Given the description of an element on the screen output the (x, y) to click on. 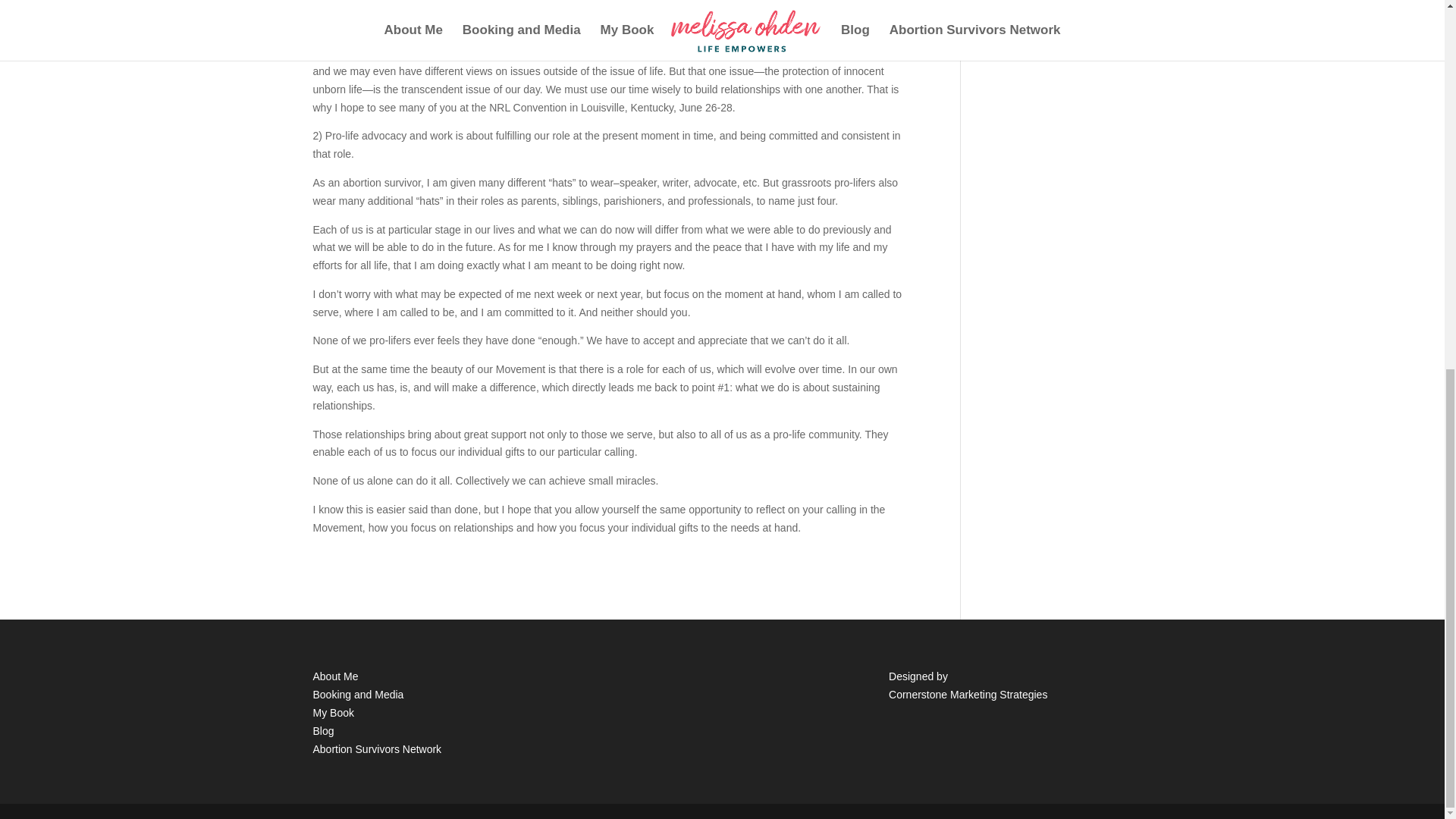
About Me (335, 676)
Cornerstone Marketing Strategies (967, 694)
My Book (333, 712)
Blog (323, 730)
Booking and Media (358, 694)
Abortion Survivors Network (377, 748)
